Given the description of an element on the screen output the (x, y) to click on. 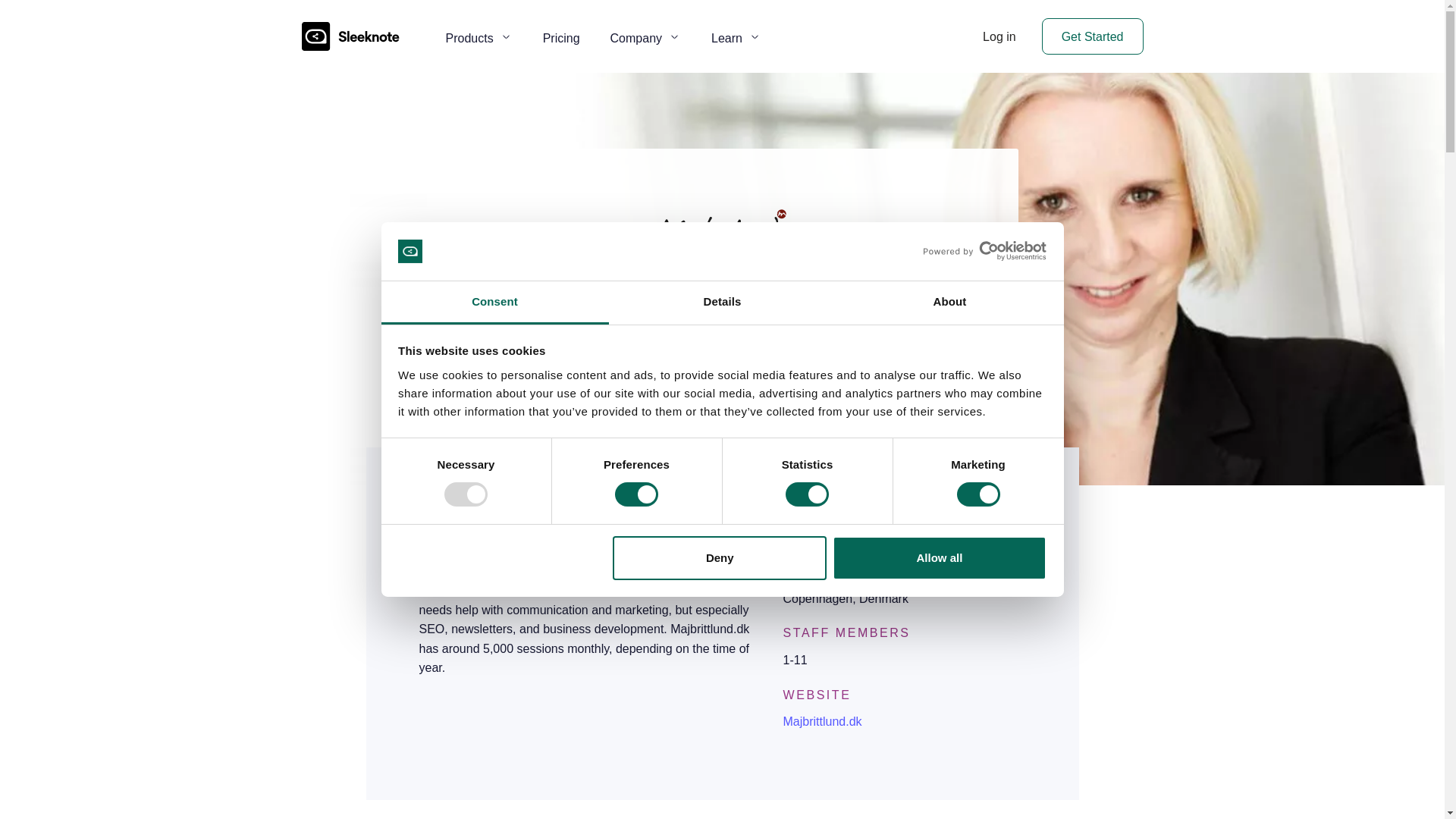
About (948, 302)
Details (721, 302)
Consent (494, 302)
